Given the description of an element on the screen output the (x, y) to click on. 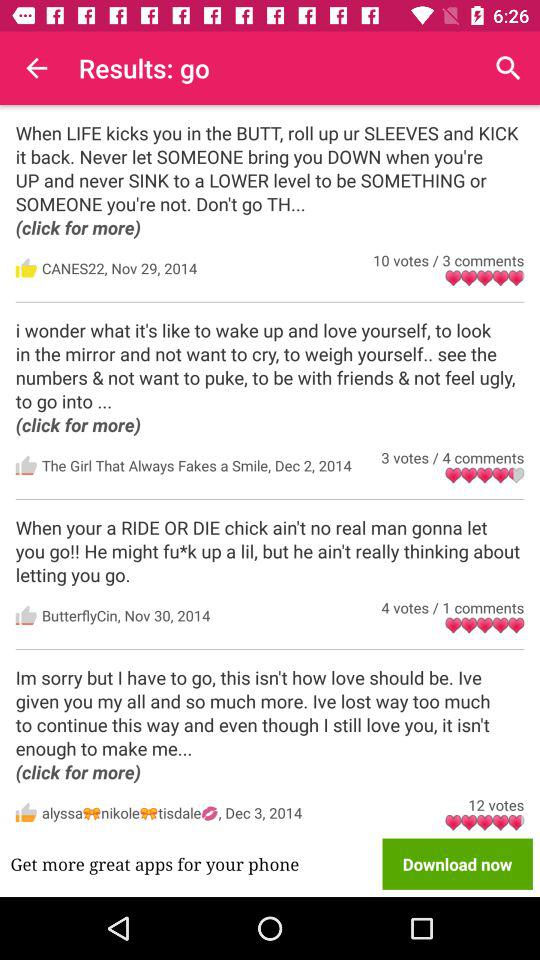
click icon to the right of the get more great icon (457, 863)
